Given the description of an element on the screen output the (x, y) to click on. 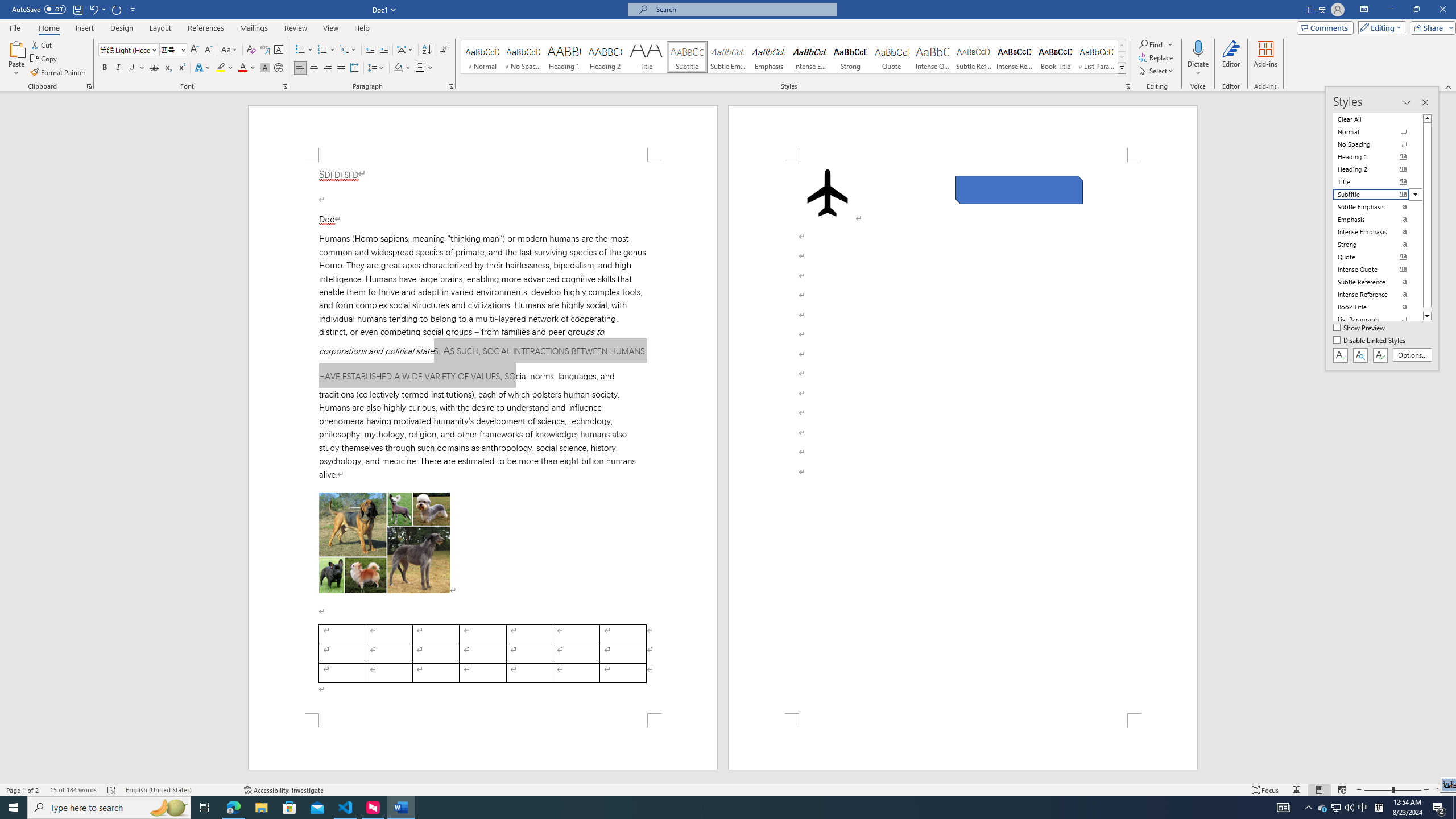
Copy (45, 58)
Font (124, 49)
Bullets (300, 49)
Justify (340, 67)
Dictate (1197, 48)
Options... (1412, 354)
Text Highlight Color (224, 67)
Language English (United States) (178, 790)
Asian Layout (405, 49)
Select (1157, 69)
Web Layout (1342, 790)
More Options (1197, 68)
Shrink Font (208, 49)
Editor (1231, 58)
